Given the description of an element on the screen output the (x, y) to click on. 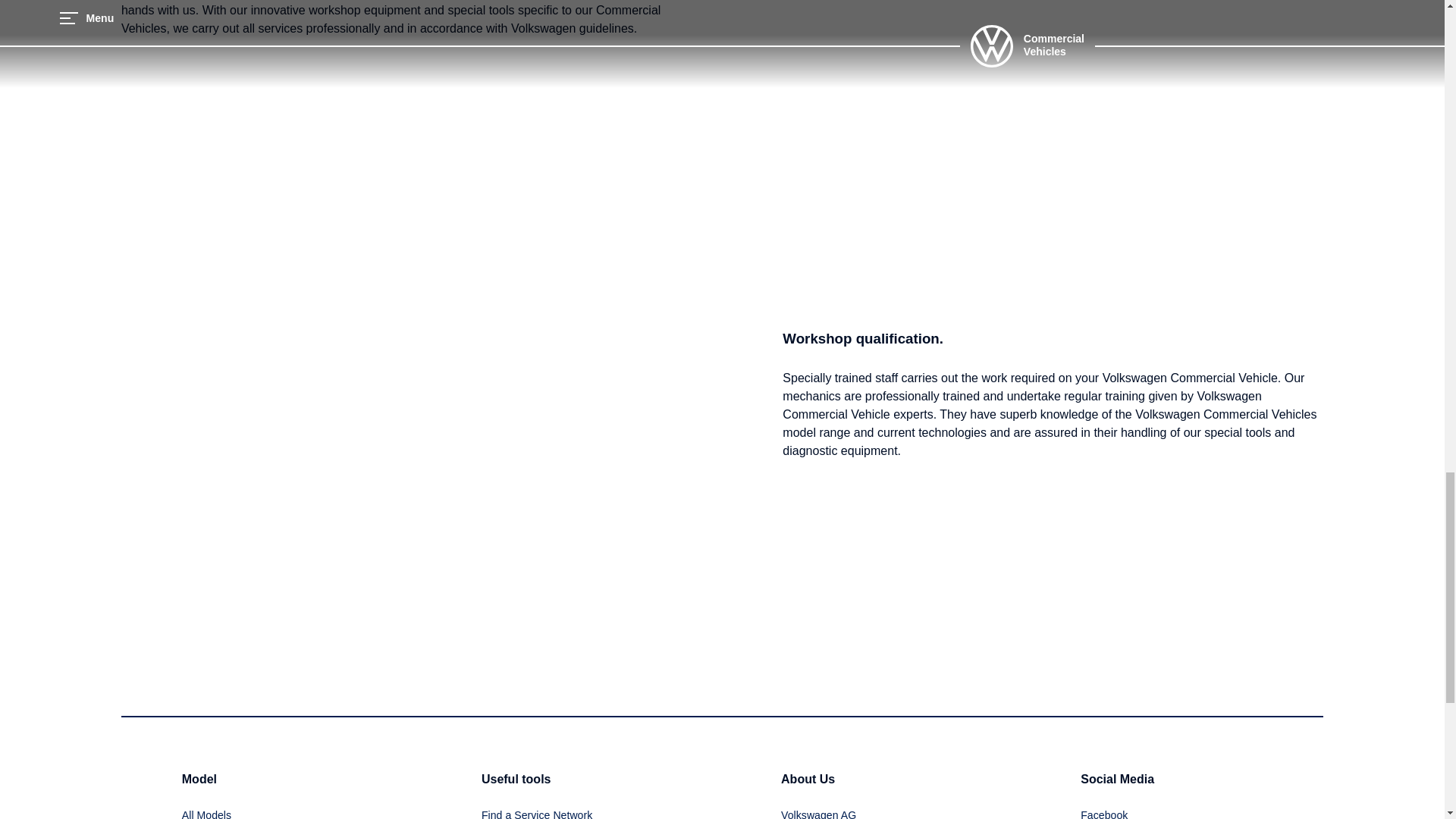
Volkswagen AG (818, 811)
All Models (206, 811)
Find a Service Network (536, 811)
